Given the description of an element on the screen output the (x, y) to click on. 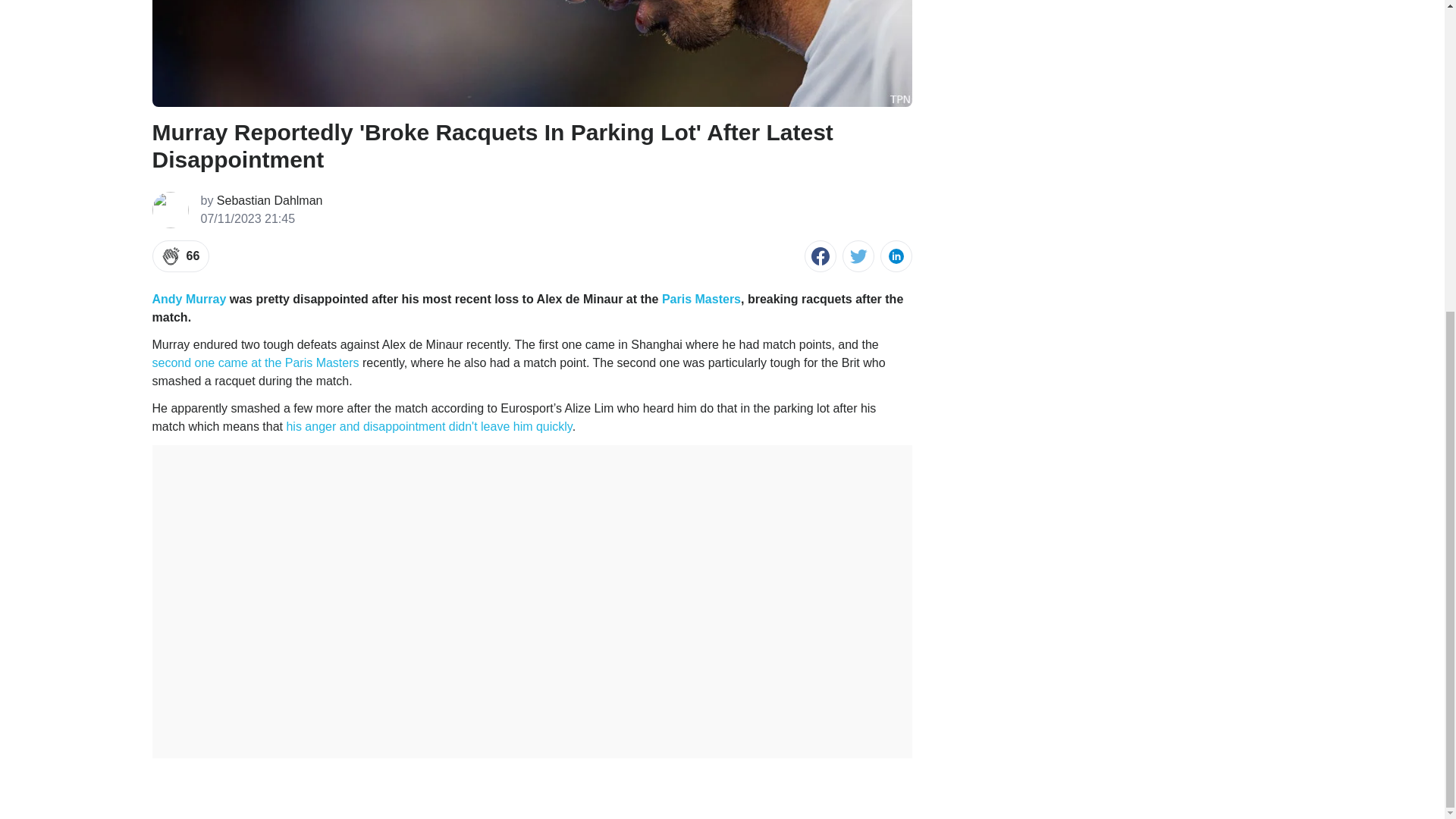
Andy Murray (188, 298)
by Sebastian Dahlman (260, 200)
second one came at the Paris Masters (254, 362)
66 (180, 255)
Andy Murray (188, 298)
Paris Masters (701, 298)
his anger and disappointment didn't leave him quickly (428, 426)
Paris Masters (701, 298)
